Given the description of an element on the screen output the (x, y) to click on. 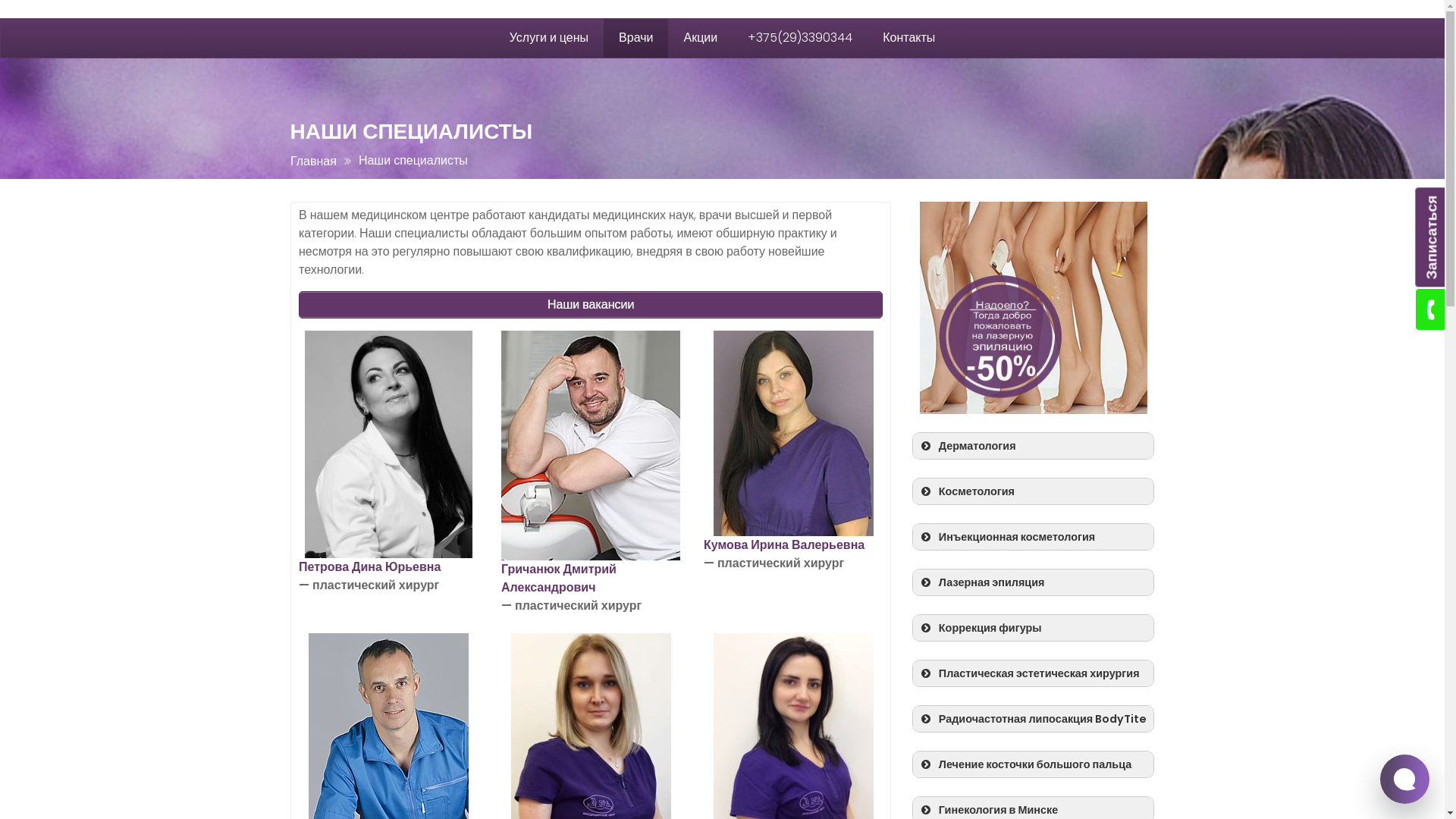
+375(29)3390344 Element type: text (799, 37)
